Given the description of an element on the screen output the (x, y) to click on. 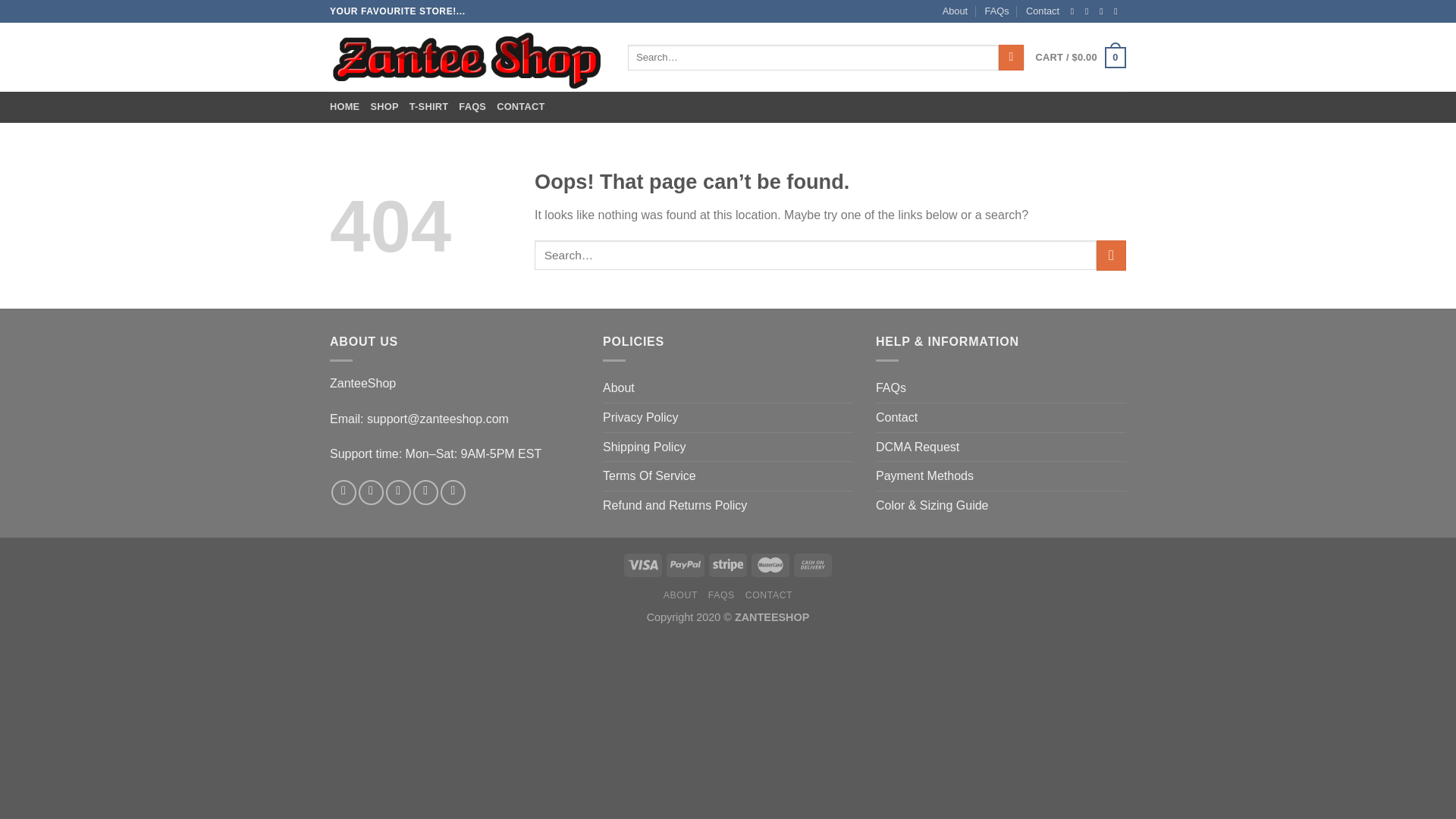
Follow on Twitter (397, 492)
Follow on Pinterest (453, 492)
Search (1010, 57)
Terms Of Service (648, 475)
DCMA Request (917, 447)
ABOUT (680, 594)
Refund and Returns Policy (674, 505)
FAQs (890, 387)
CONTACT (520, 106)
